Given the description of an element on the screen output the (x, y) to click on. 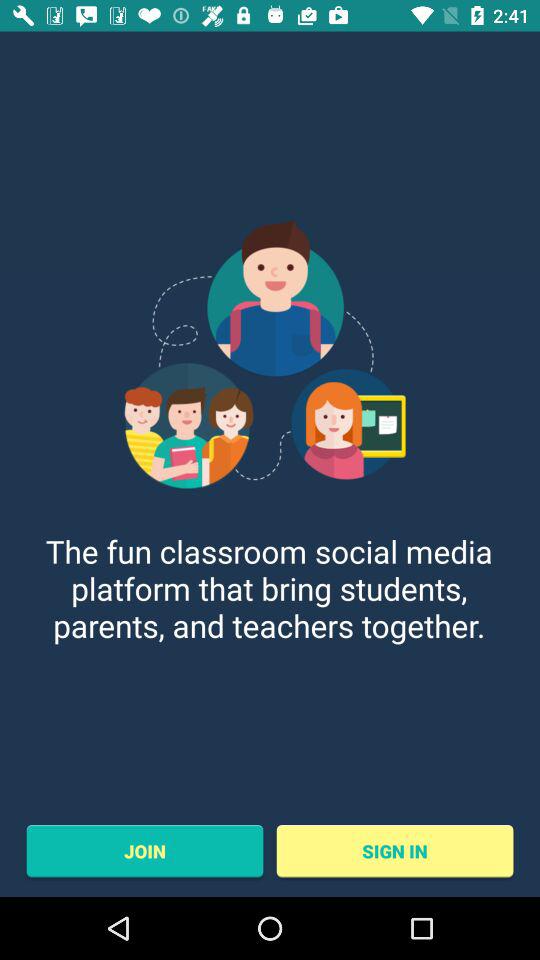
swipe until the join item (144, 851)
